Given the description of an element on the screen output the (x, y) to click on. 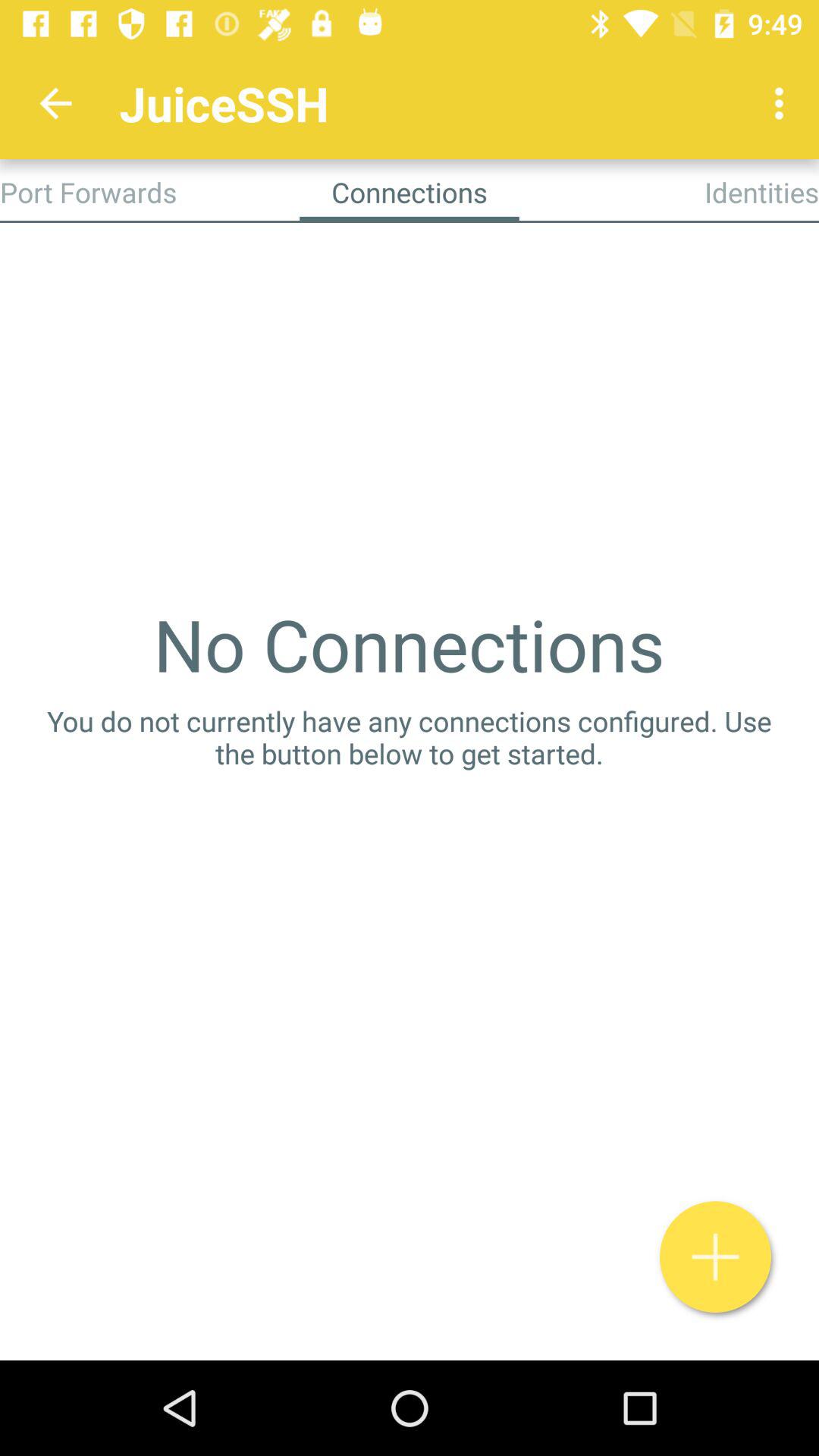
choose the port forwards app (88, 192)
